Given the description of an element on the screen output the (x, y) to click on. 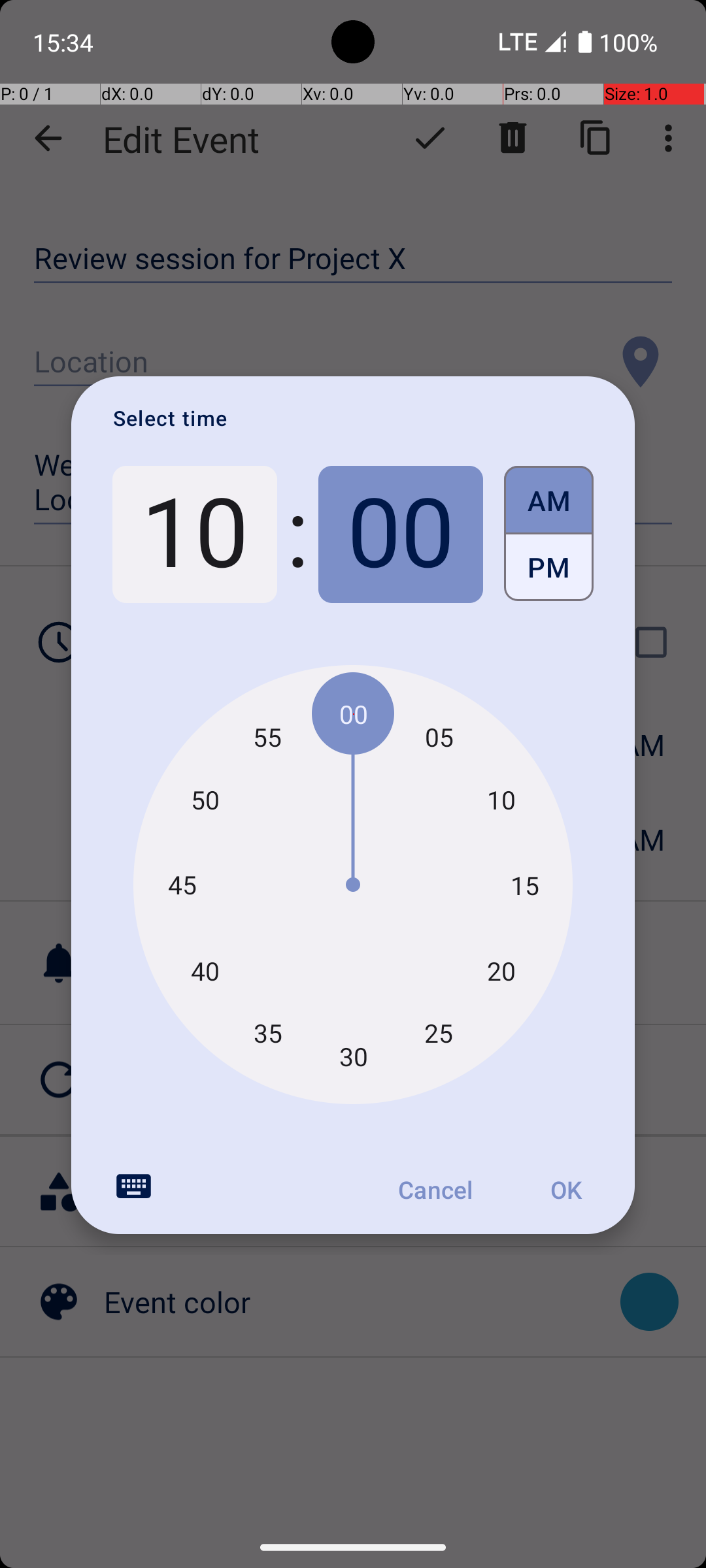
Select AM or PM Element type: android.widget.LinearLayout (548, 534)
